Given the description of an element on the screen output the (x, y) to click on. 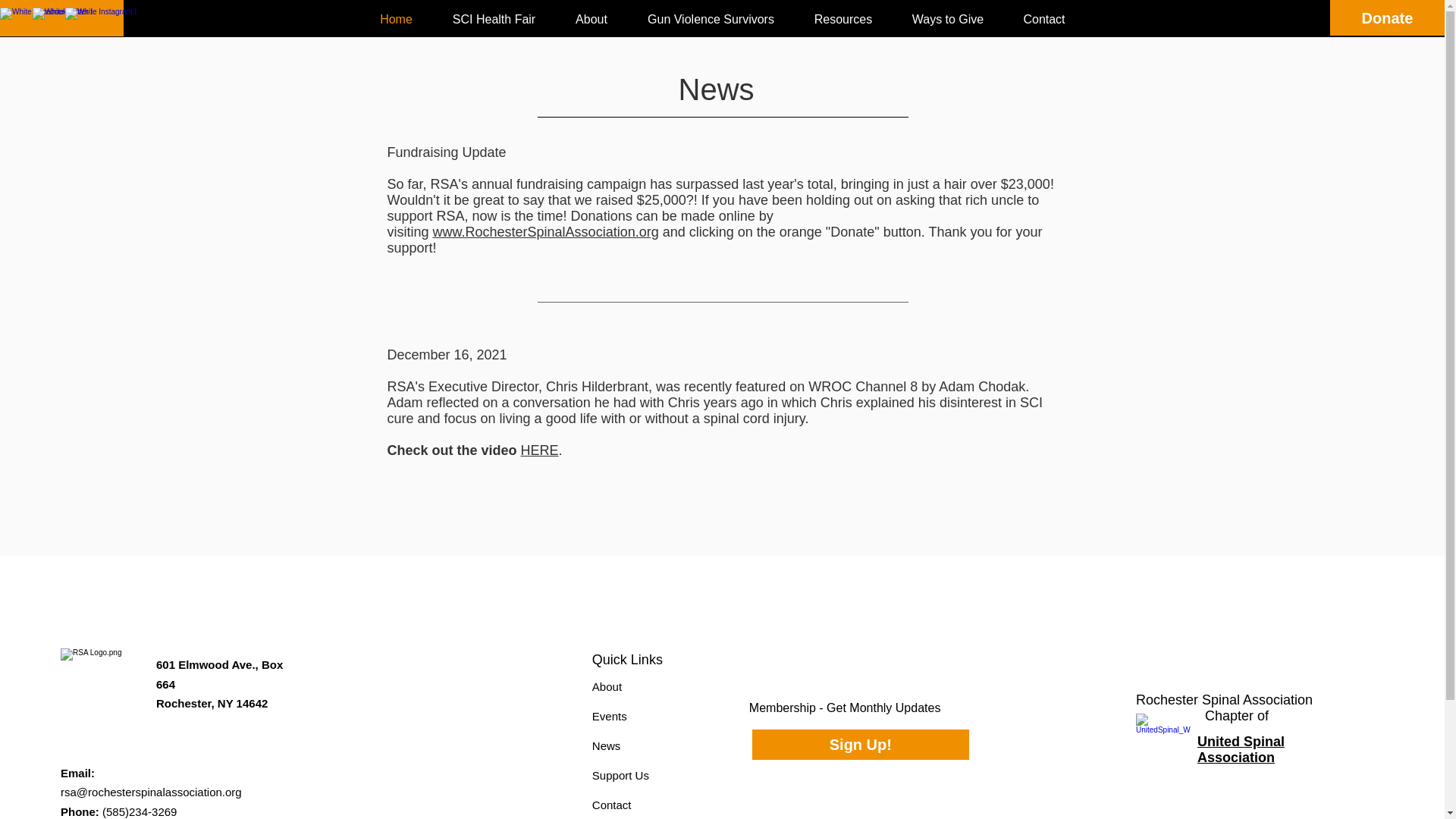
SCI Health Fair (493, 19)
About (606, 686)
Contact (611, 804)
HERE (540, 450)
Ways to Give (947, 19)
News (606, 745)
About (590, 19)
Resources (843, 19)
Sign Up! (860, 744)
www.RochesterSpinalAssociation.org (545, 231)
Contact (1044, 19)
Home (395, 19)
Gun Violence Survivors (710, 19)
Events (609, 716)
Support Us (620, 775)
